Given the description of an element on the screen output the (x, y) to click on. 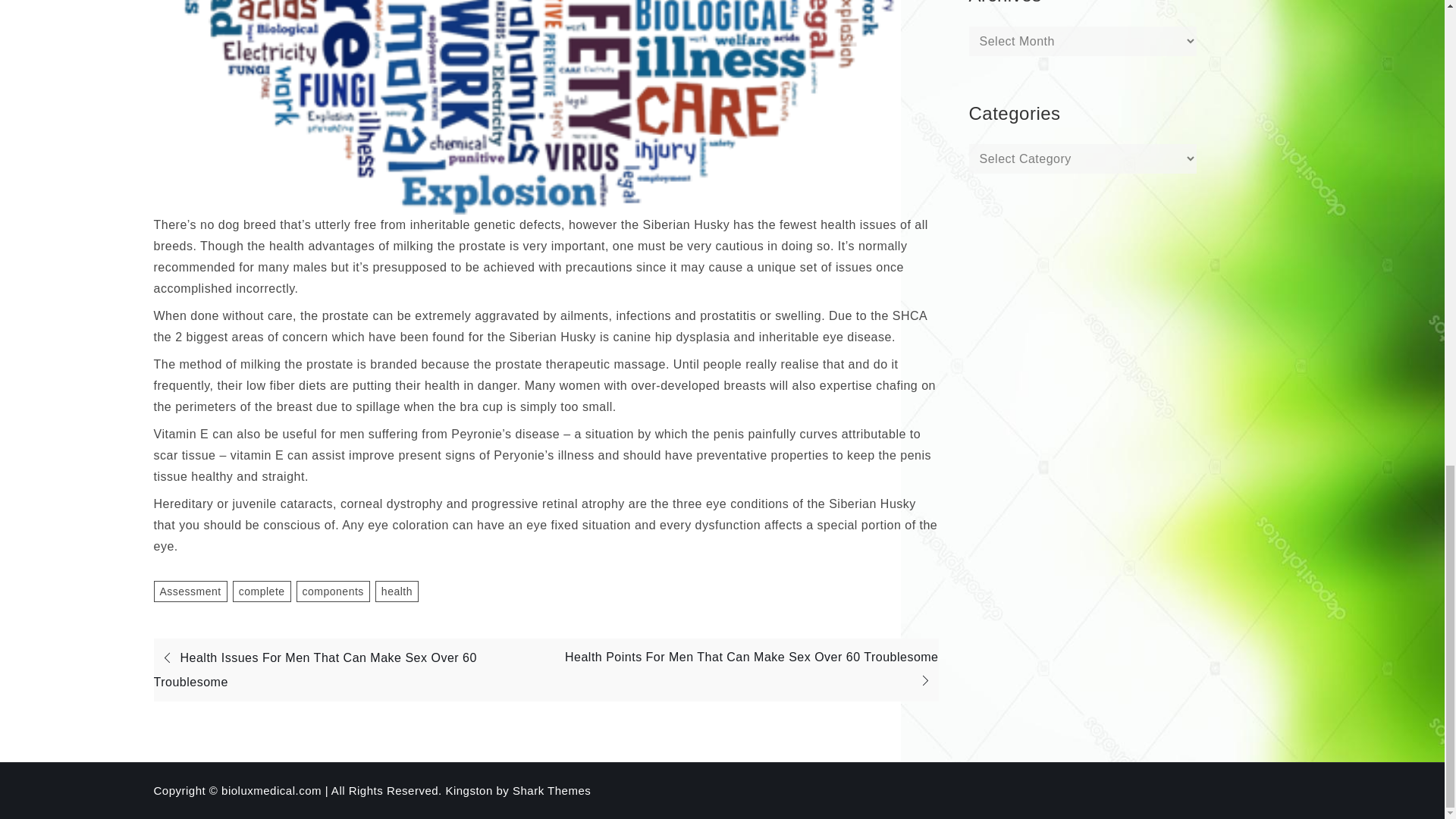
Assessment (189, 590)
